Given the description of an element on the screen output the (x, y) to click on. 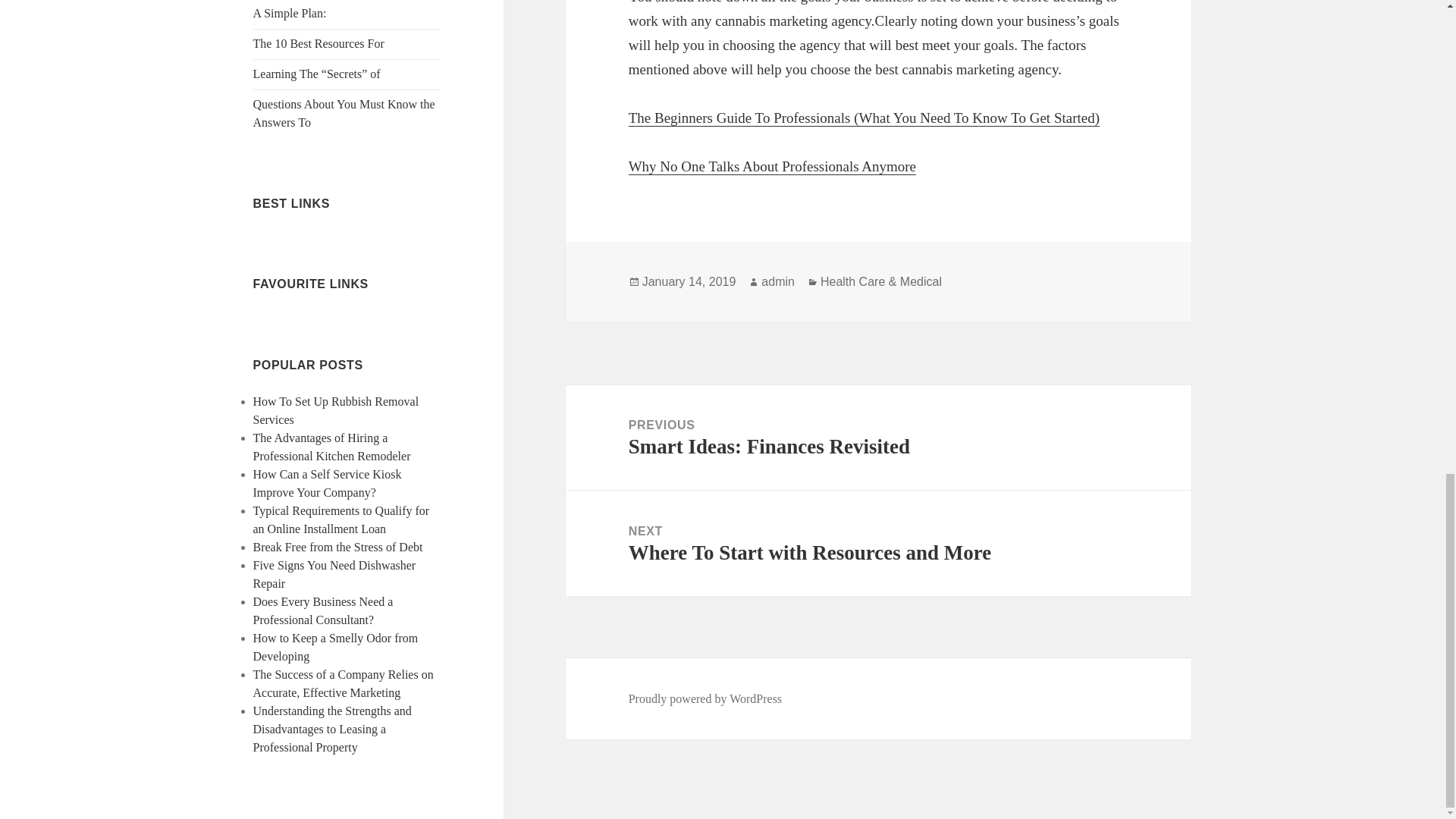
How To Set Up Rubbish Removal Services (336, 409)
Does Every Business Need a Professional Consultant? (323, 610)
Break Free from the Stress of Debt (338, 546)
Break Free from the Stress of Debt (338, 546)
A Simple Plan: (289, 12)
How to Keep a Smelly Odor from Developing (336, 646)
How Can a Self Service Kiosk Improve Your Company? (327, 482)
Does Every Business Need a Professional Consultant? (323, 610)
How to Keep a Smelly Odor from Developing (336, 646)
How To Set Up Rubbish Removal Services (336, 409)
The 10 Best Resources For (318, 42)
Five Signs You Need Dishwasher Repair (334, 573)
